Given the description of an element on the screen output the (x, y) to click on. 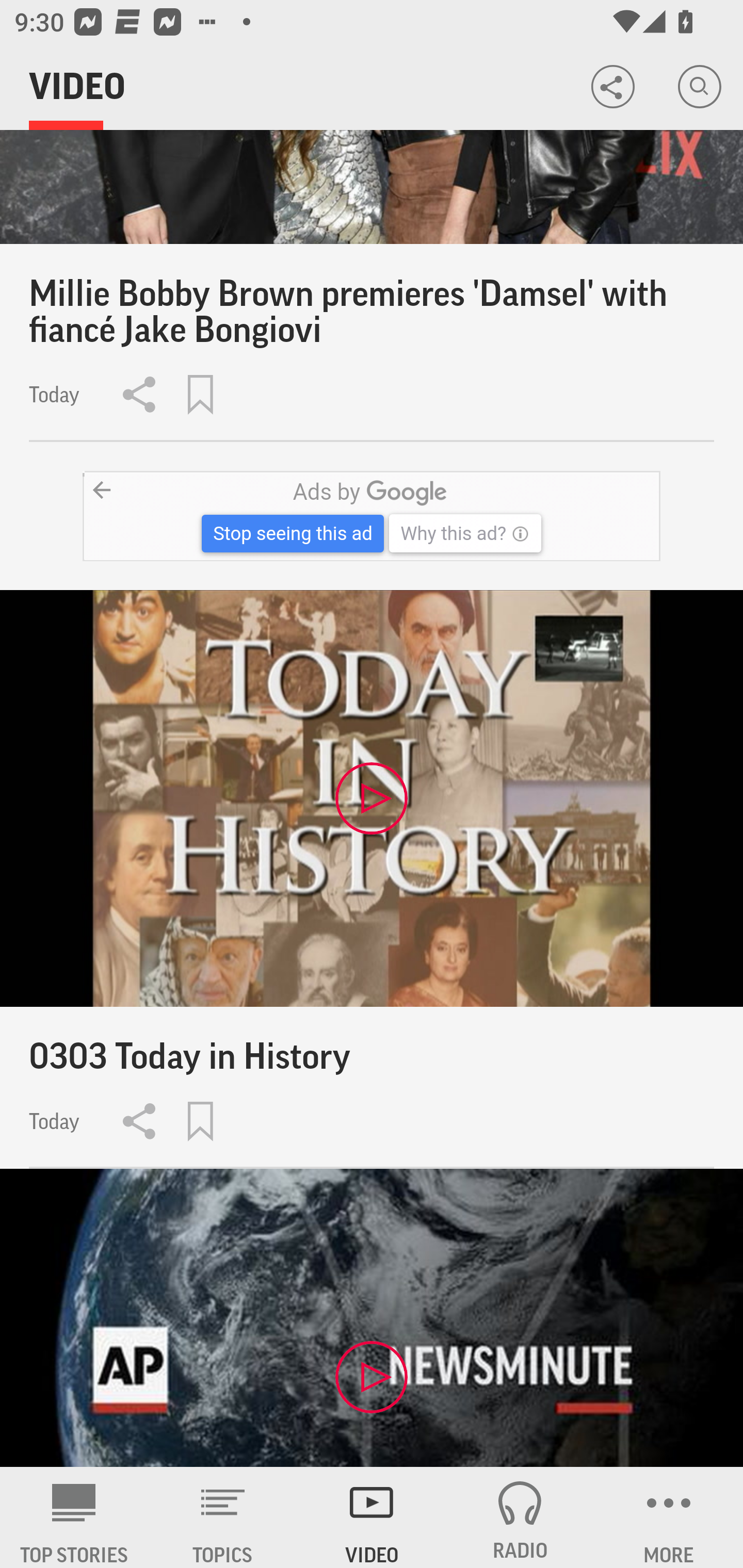
0303 Today in History Today (371, 878)
AP News TOP STORIES (74, 1517)
TOPICS (222, 1517)
VIDEO (371, 1517)
RADIO (519, 1517)
MORE (668, 1517)
